Given the description of an element on the screen output the (x, y) to click on. 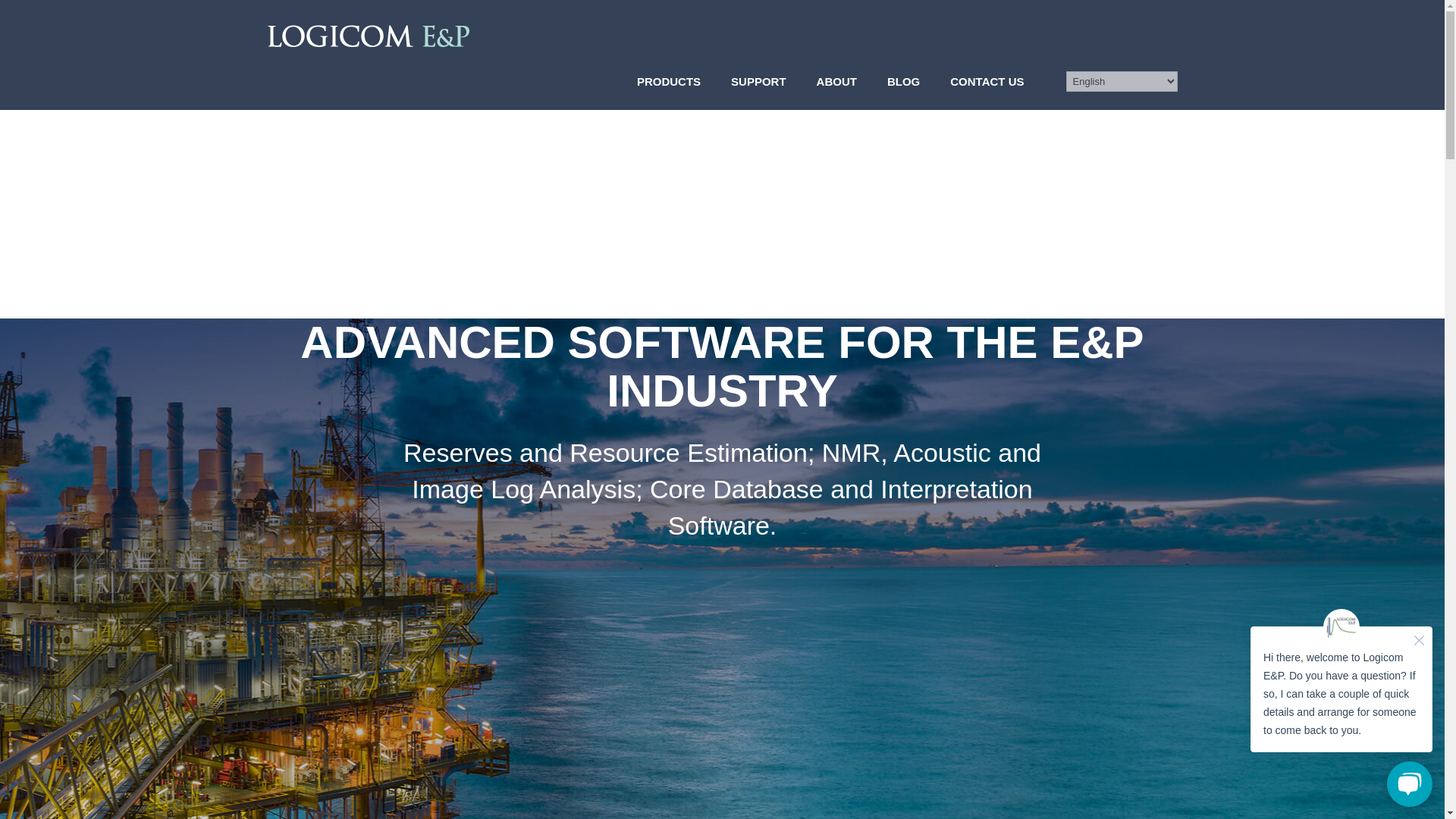
PRODUCTS (668, 81)
ABOUT (836, 81)
SUPPORT (758, 81)
CONTACT US (986, 81)
BLOG (903, 81)
